Given the description of an element on the screen output the (x, y) to click on. 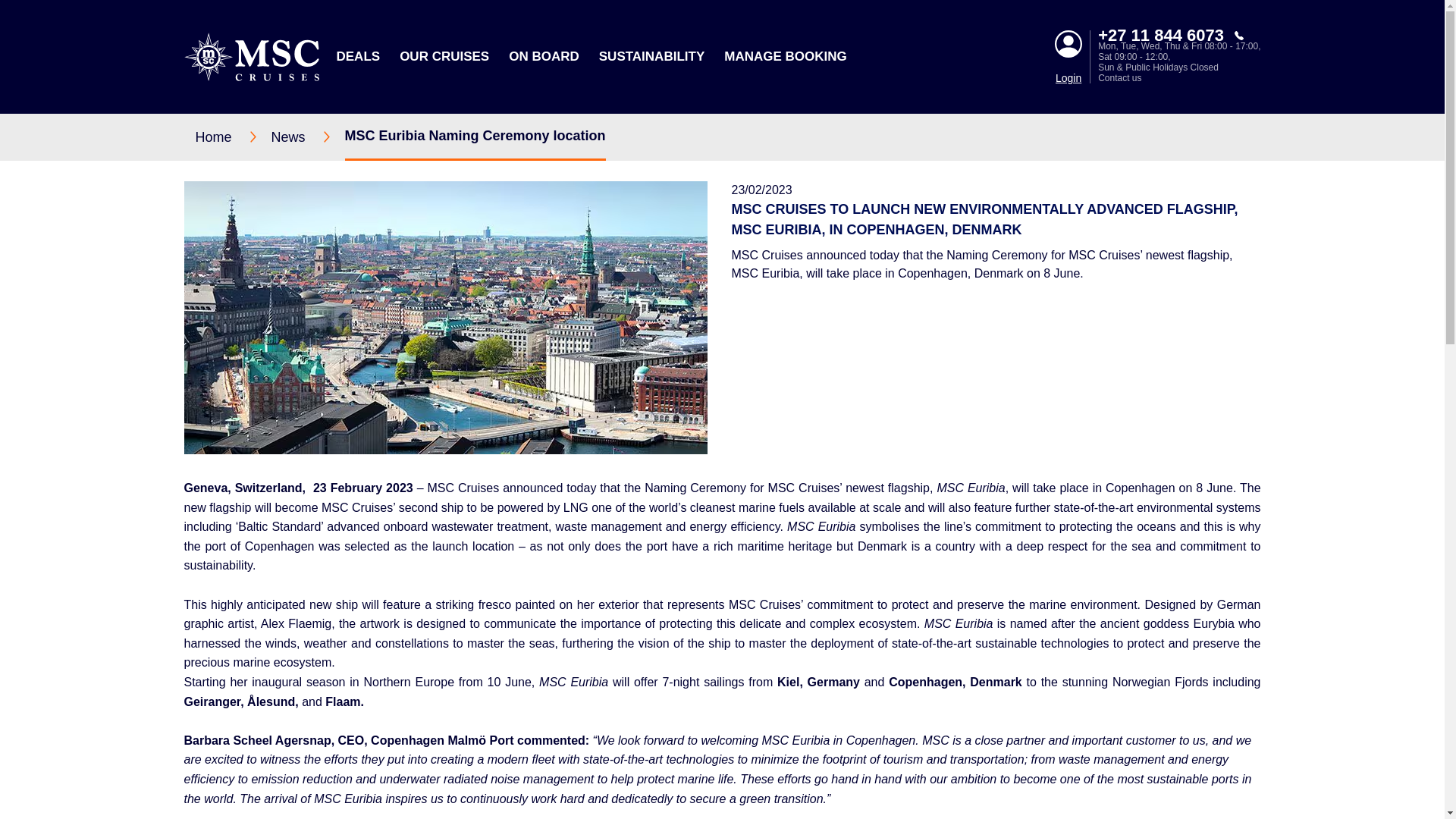
MANAGE BOOKING (785, 56)
OUR CRUISES (443, 56)
News (307, 136)
Contact us (1178, 77)
Login (1068, 77)
ON BOARD (543, 56)
DEALS (358, 56)
msc cruises logo (250, 56)
Search (1071, 155)
SUSTAINABILITY (651, 56)
Home (232, 136)
